Given the description of an element on the screen output the (x, y) to click on. 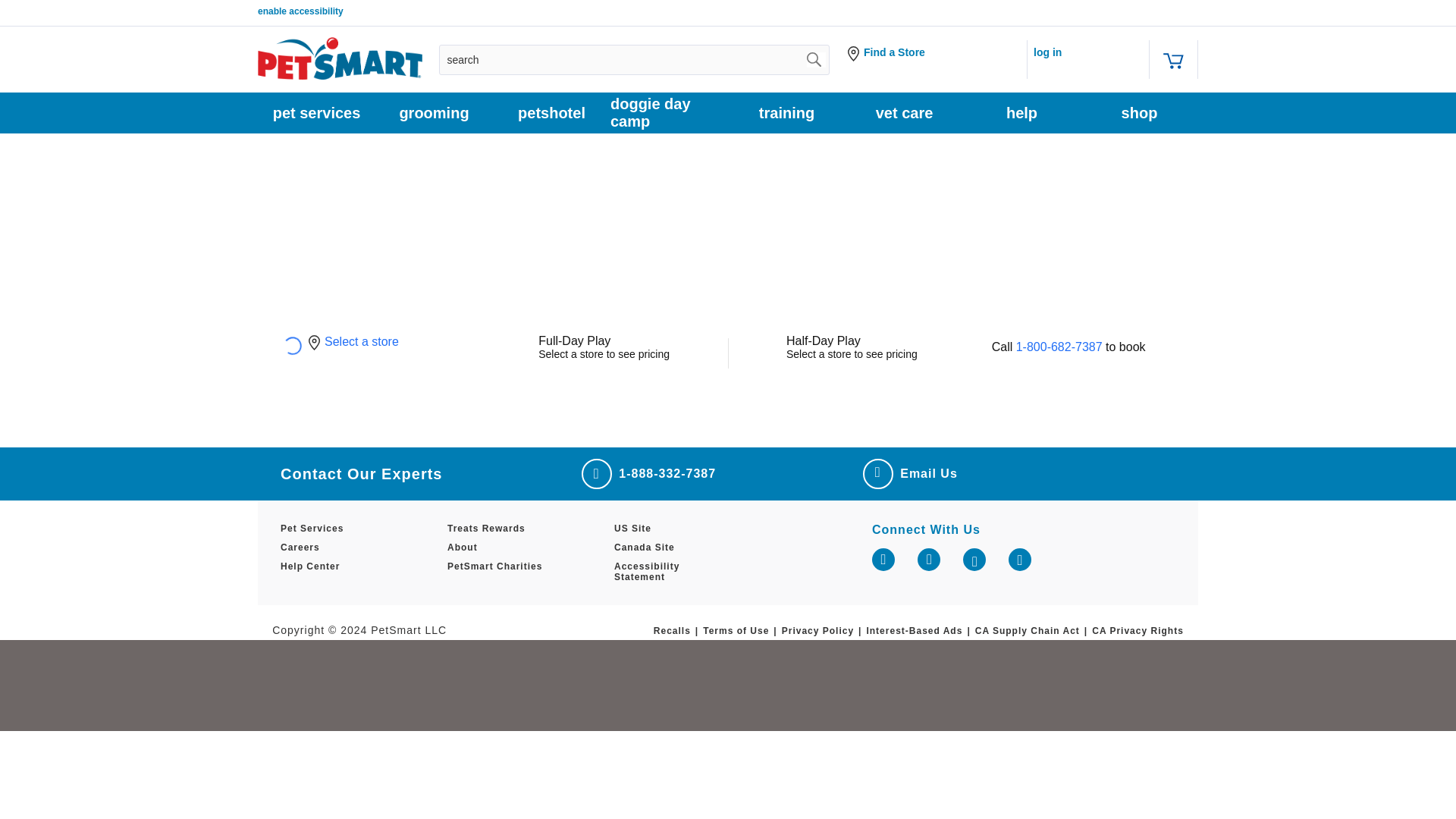
Email Us (910, 473)
Find a Store (938, 51)
1-800-682-7387  (1060, 346)
training (786, 112)
pet services (316, 112)
1-888-332-7387 (648, 473)
shop (1139, 112)
log in (1047, 51)
enable accessibility (300, 10)
Pet Services (337, 532)
help (1021, 112)
grooming (434, 112)
doggie day camp (669, 112)
petshotel (551, 112)
Select a store (361, 341)
